Given the description of an element on the screen output the (x, y) to click on. 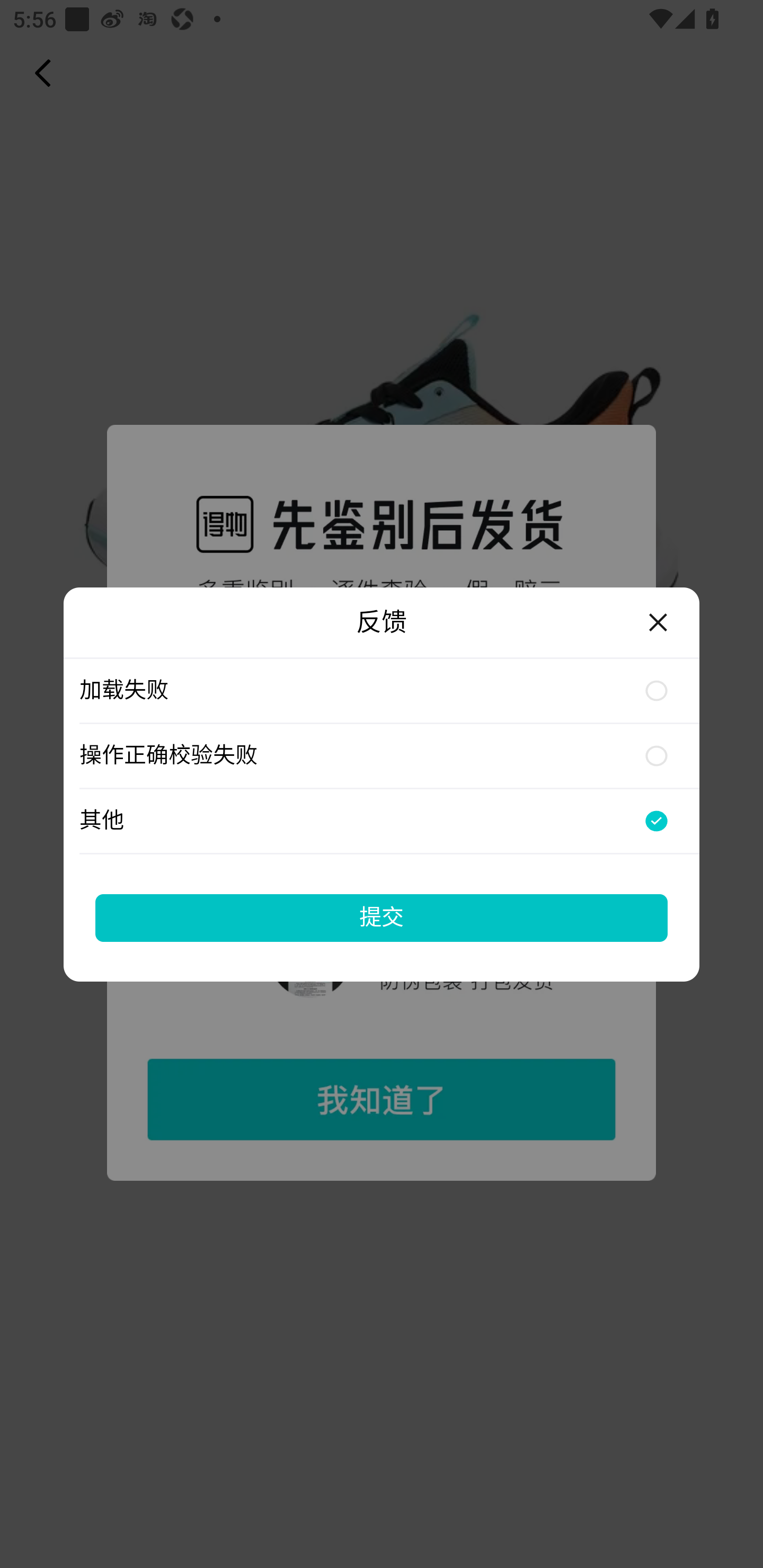
提交 (381, 917)
